Given the description of an element on the screen output the (x, y) to click on. 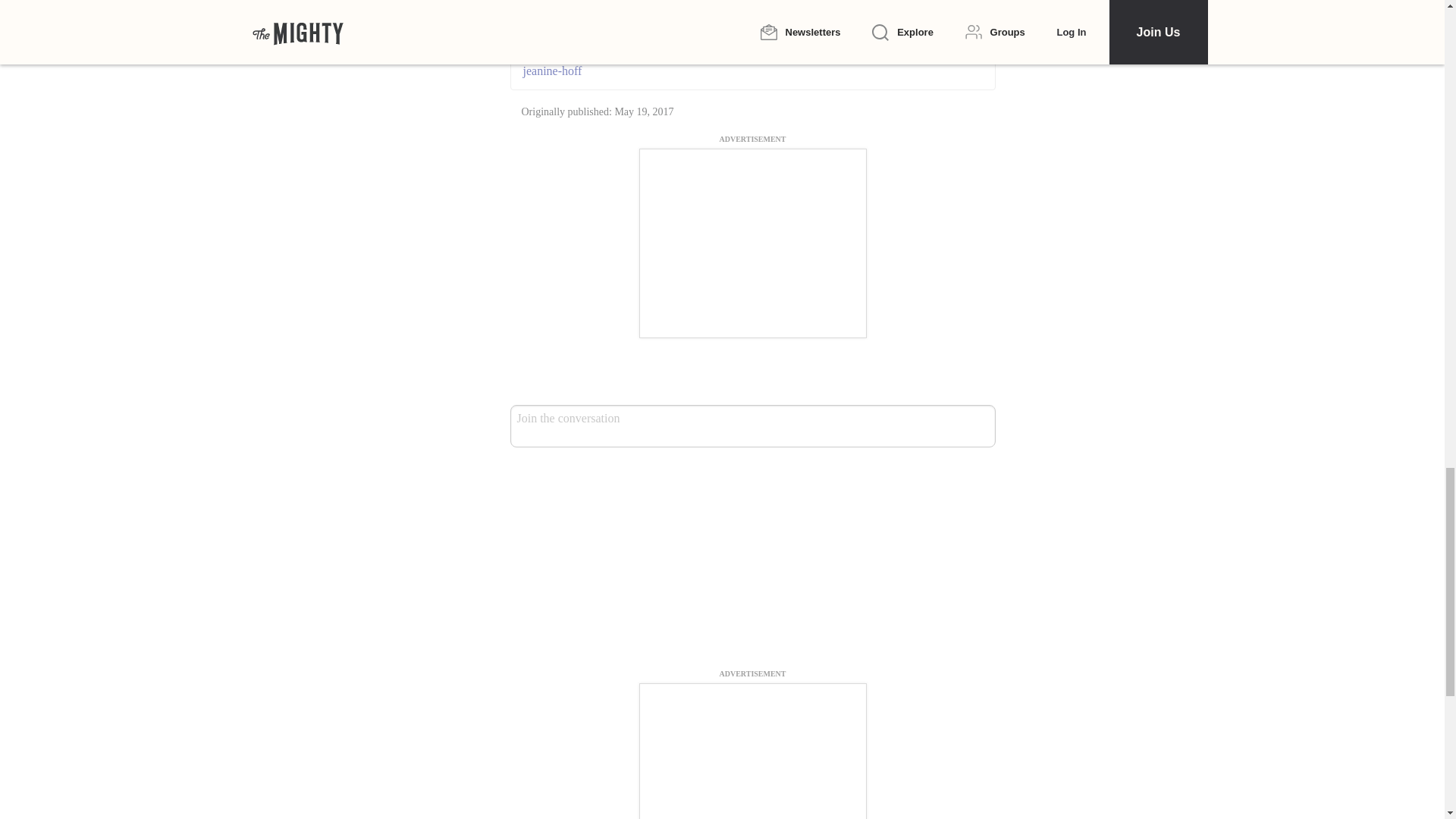
jeanine-hoff (752, 71)
